Given the description of an element on the screen output the (x, y) to click on. 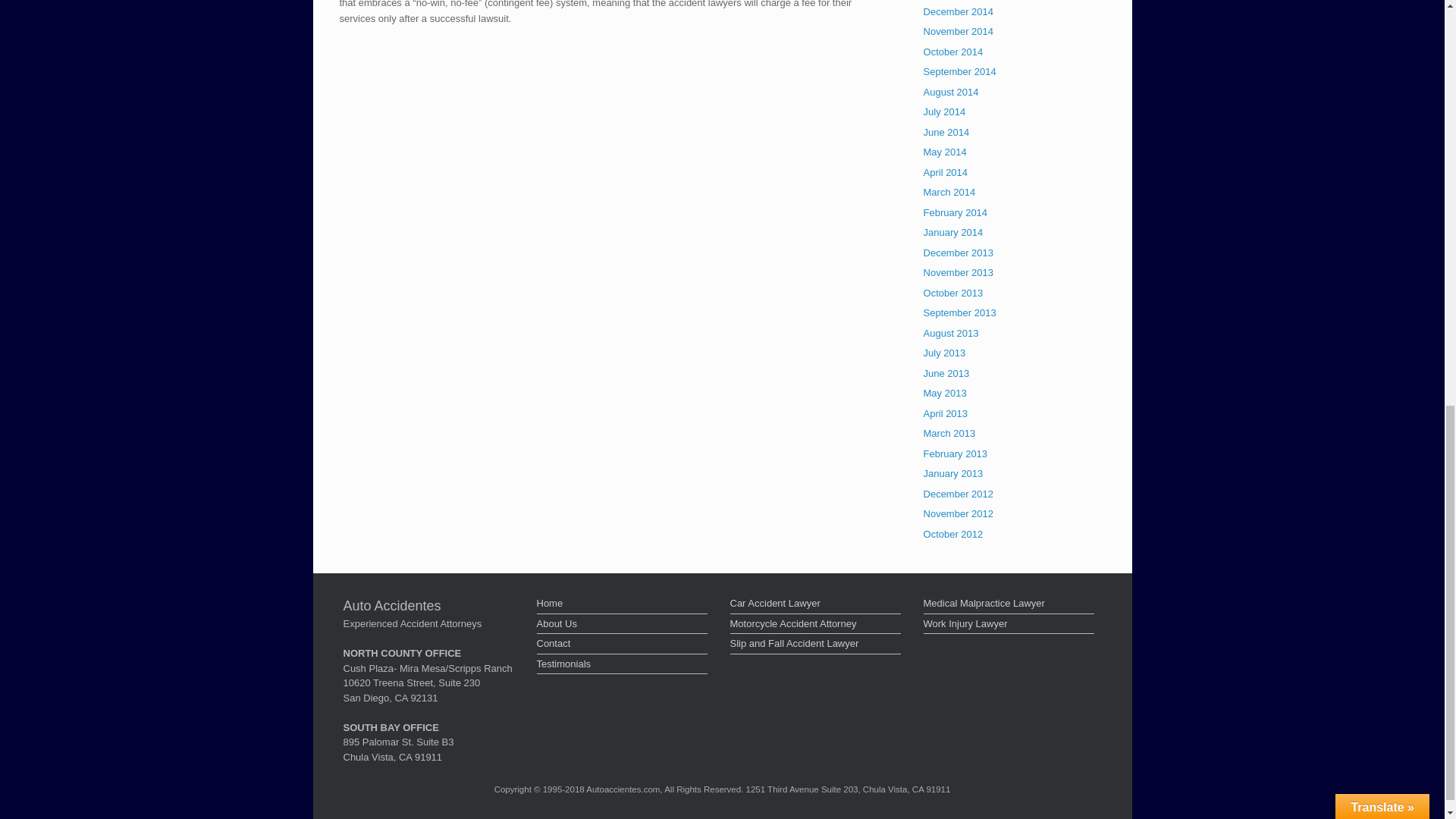
October 2014 (953, 51)
August 2014 (950, 91)
September 2014 (959, 71)
November 2014 (958, 30)
July 2014 (944, 111)
December 2014 (958, 11)
